Given the description of an element on the screen output the (x, y) to click on. 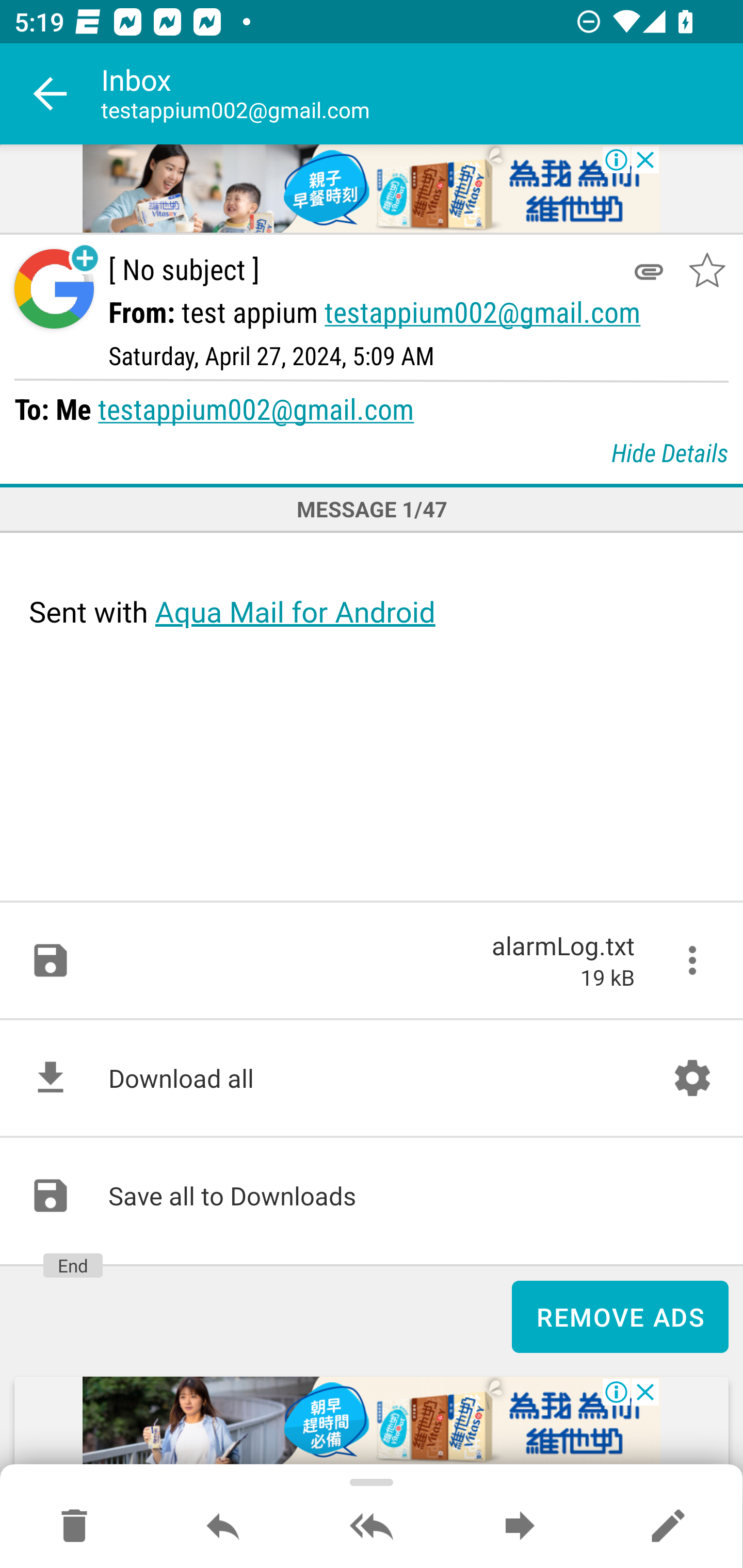
Navigate up (50, 93)
Inbox testappium002@gmail.com (422, 93)
Sender contact button (53, 289)
Aqua Mail for Android (294, 612)
alarmLog.txt 19 kB More options (371, 960)
More options (692, 960)
Download all Account setup (371, 1077)
Account setup (692, 1077)
Save all to Downloads (371, 1195)
REMOVE ADS (619, 1317)
Move to Deleted (74, 1527)
Reply (222, 1527)
Reply all (371, 1527)
Forward (519, 1527)
Reply as new (667, 1527)
